Given the description of an element on the screen output the (x, y) to click on. 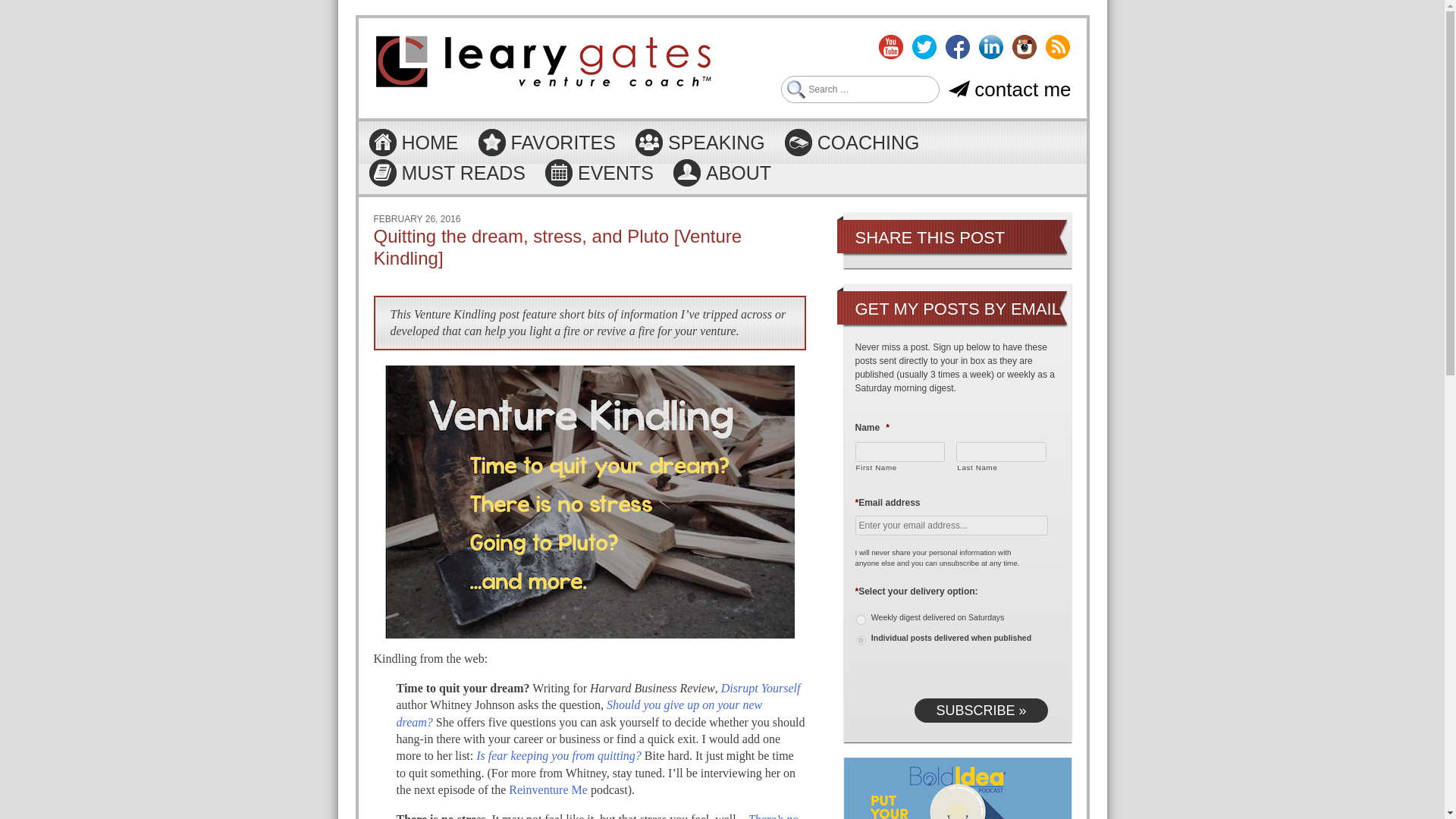
ABOUT (721, 173)
What I am about, not the things I do (721, 173)
Reinventure Me (548, 789)
EVENTS (598, 173)
View my videos on YouTube (890, 46)
HOME (412, 142)
LinkedIn (990, 46)
Disrupt Yourself (760, 687)
contact me (1008, 89)
Skip to content (394, 131)
